Given the description of an element on the screen output the (x, y) to click on. 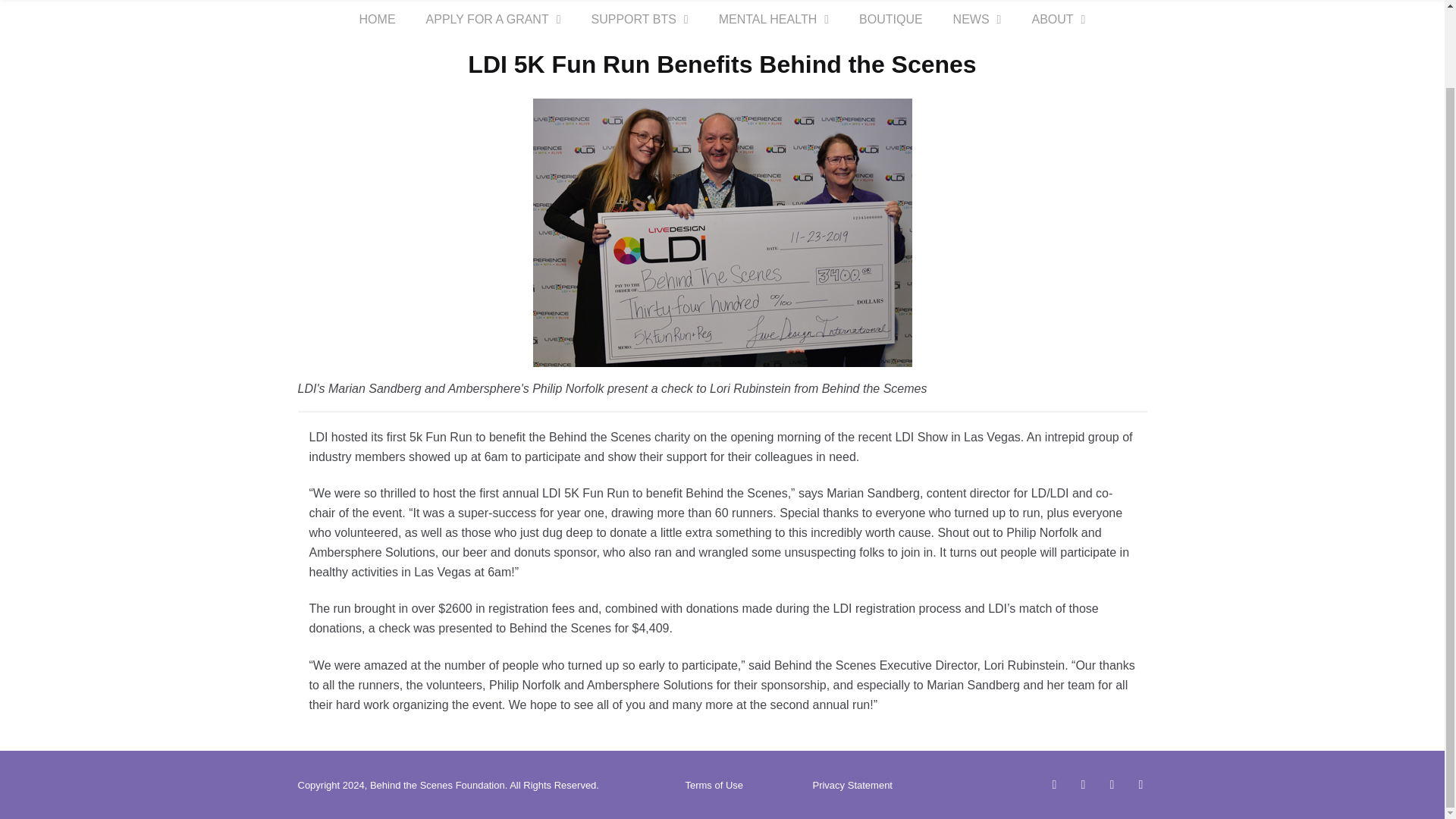
SUPPORT BTS (639, 19)
HOME (376, 19)
APPLY FOR A GRANT (493, 19)
MENTAL HEALTH (773, 19)
